Given the description of an element on the screen output the (x, y) to click on. 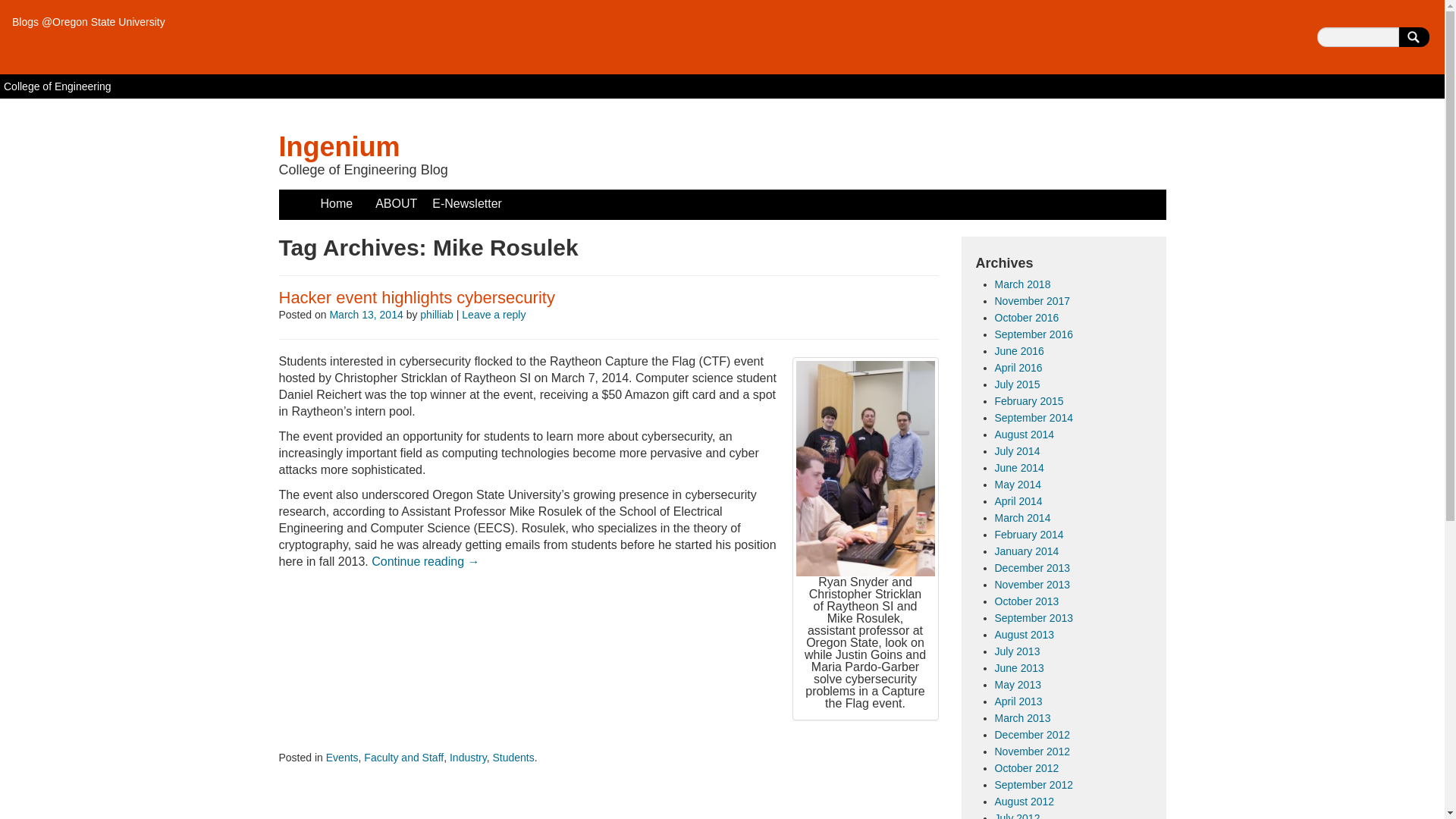
November 2013 (1032, 584)
June 2016 (1018, 350)
Permalink to Hacker event highlights cybersecurity (416, 297)
Events (342, 757)
Ingenium (339, 146)
ABOUT (396, 204)
March 2018 (1022, 284)
Skip to primary content (341, 197)
Home (336, 204)
View all posts by philliab (436, 314)
September 2014 (1034, 417)
February 2015 (1029, 400)
October 2016 (1026, 317)
Skip to secondary content (349, 197)
philliab (436, 314)
